Given the description of an element on the screen output the (x, y) to click on. 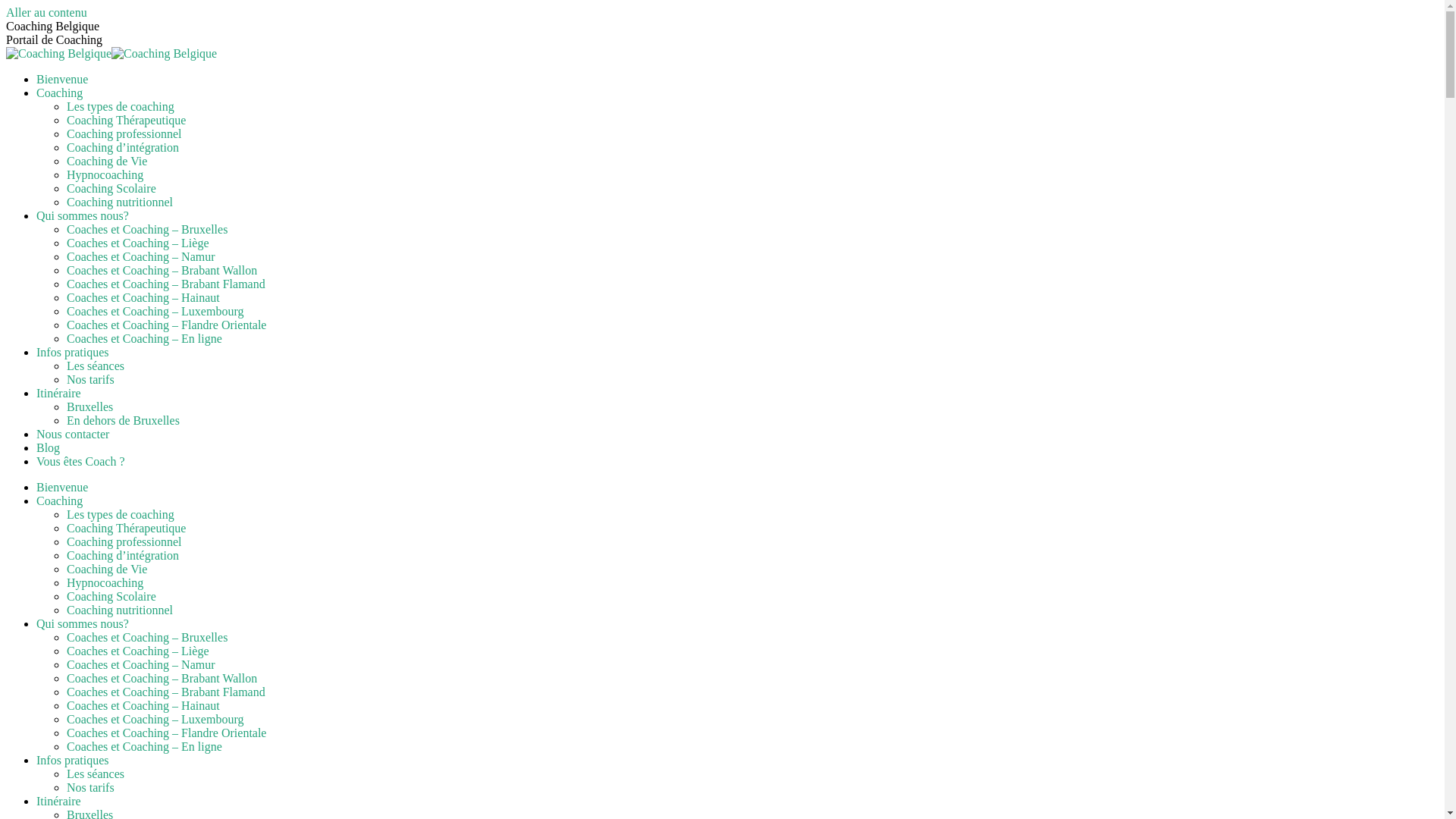
Qui sommes nous? Element type: text (82, 623)
Nos tarifs Element type: text (90, 787)
Nous contacter Element type: text (72, 433)
Infos pratiques Element type: text (72, 351)
Les types de coaching Element type: text (120, 106)
Coaching Element type: text (59, 500)
Coaching nutritionnel Element type: text (119, 201)
Les types de coaching Element type: text (120, 514)
Bienvenue Element type: text (61, 486)
Qui sommes nous? Element type: text (82, 215)
Hypnocoaching Element type: text (104, 174)
Coaching Element type: text (59, 92)
Coaching nutritionnel Element type: text (119, 609)
Coaching de Vie Element type: text (106, 160)
Coaching professionnel Element type: text (124, 541)
Blog Element type: text (47, 447)
Aller au contenu Element type: text (46, 12)
En dehors de Bruxelles Element type: text (122, 420)
Coaching professionnel Element type: text (124, 133)
Bruxelles Element type: text (89, 406)
Coaching de Vie Element type: text (106, 568)
Bienvenue Element type: text (61, 78)
Coaching Scolaire Element type: text (111, 595)
Nos tarifs Element type: text (90, 379)
Coaching Scolaire Element type: text (111, 188)
Hypnocoaching Element type: text (104, 582)
Infos pratiques Element type: text (72, 759)
